Given the description of an element on the screen output the (x, y) to click on. 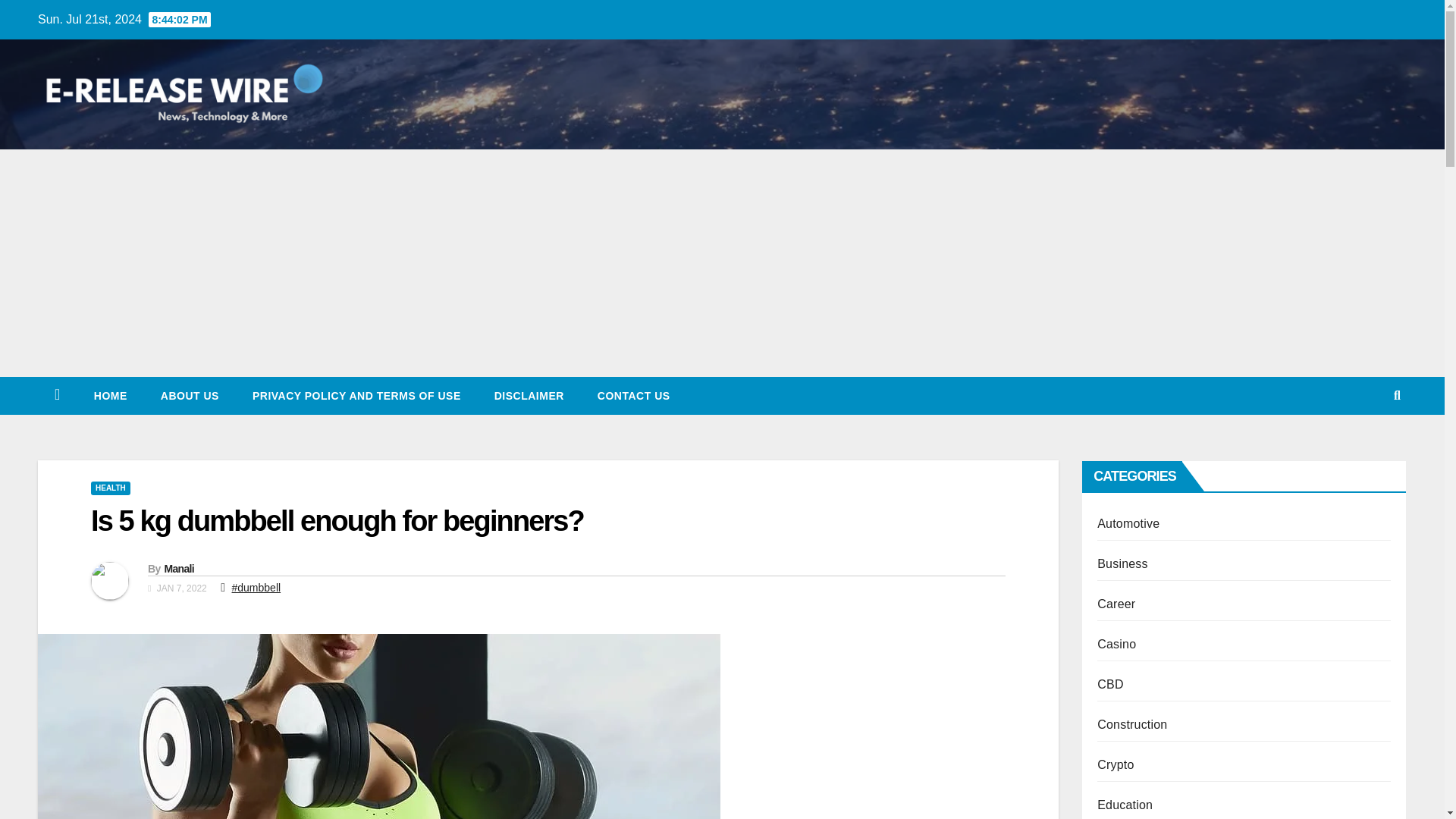
DISCLAIMER (528, 395)
CONTACT US (633, 395)
HOME (110, 395)
Disclaimer (528, 395)
Is 5 kg dumbbell enough for beginners? (336, 521)
HEALTH (110, 488)
PRIVACY POLICY AND TERMS OF USE (356, 395)
Privacy Policy and Terms of Use (356, 395)
Contact Us (633, 395)
ABOUT US (189, 395)
About Us (189, 395)
Manali (178, 568)
Home (110, 395)
Permalink to: Is 5 kg dumbbell enough for beginners? (336, 521)
